Given the description of an element on the screen output the (x, y) to click on. 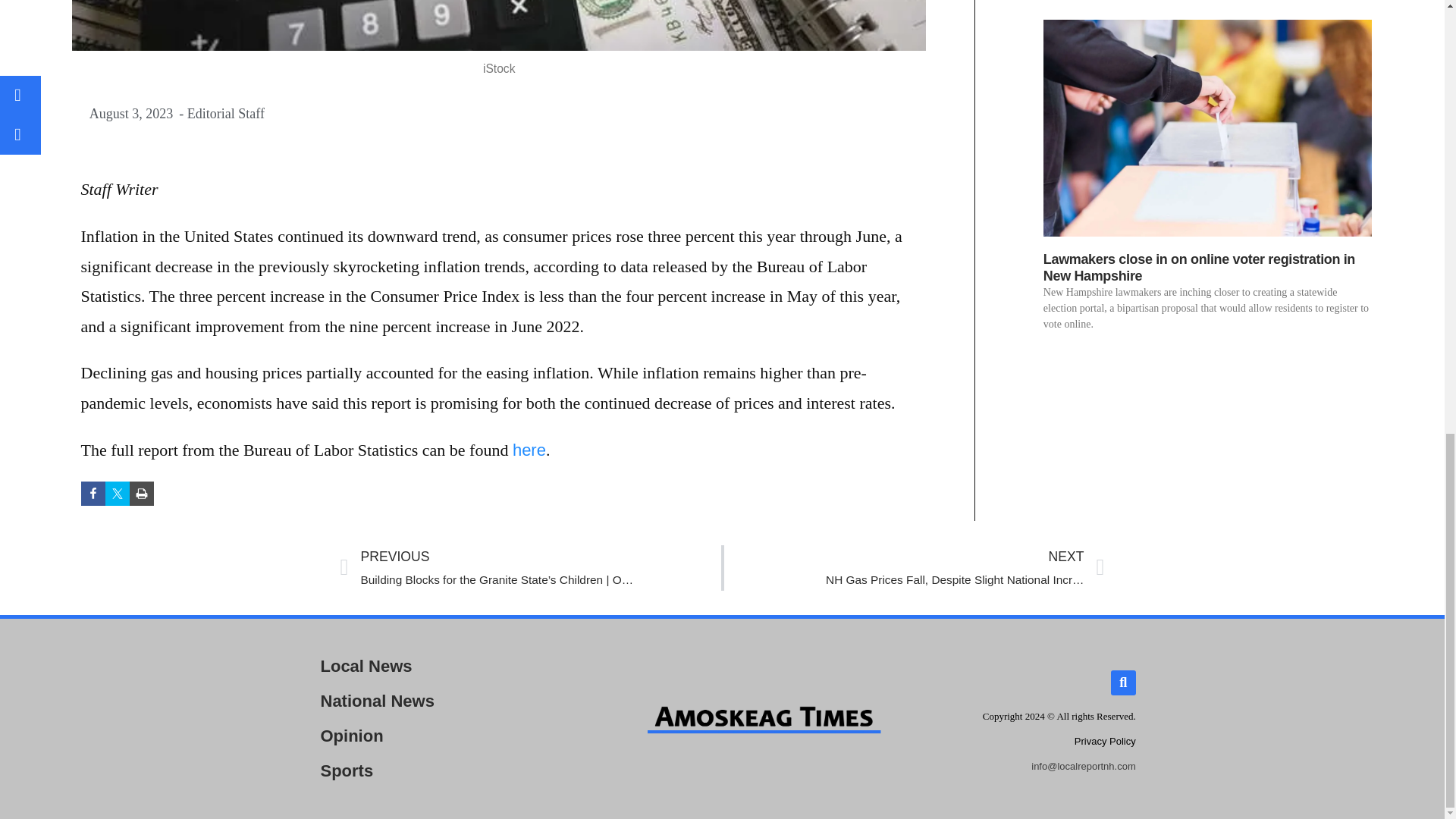
Share on Facebook (92, 493)
Sports (438, 770)
Print this Page (140, 493)
Opinion (913, 567)
National News (438, 736)
Privacy Policy (438, 701)
here (1104, 740)
Share on Twitter (529, 449)
